Given the description of an element on the screen output the (x, y) to click on. 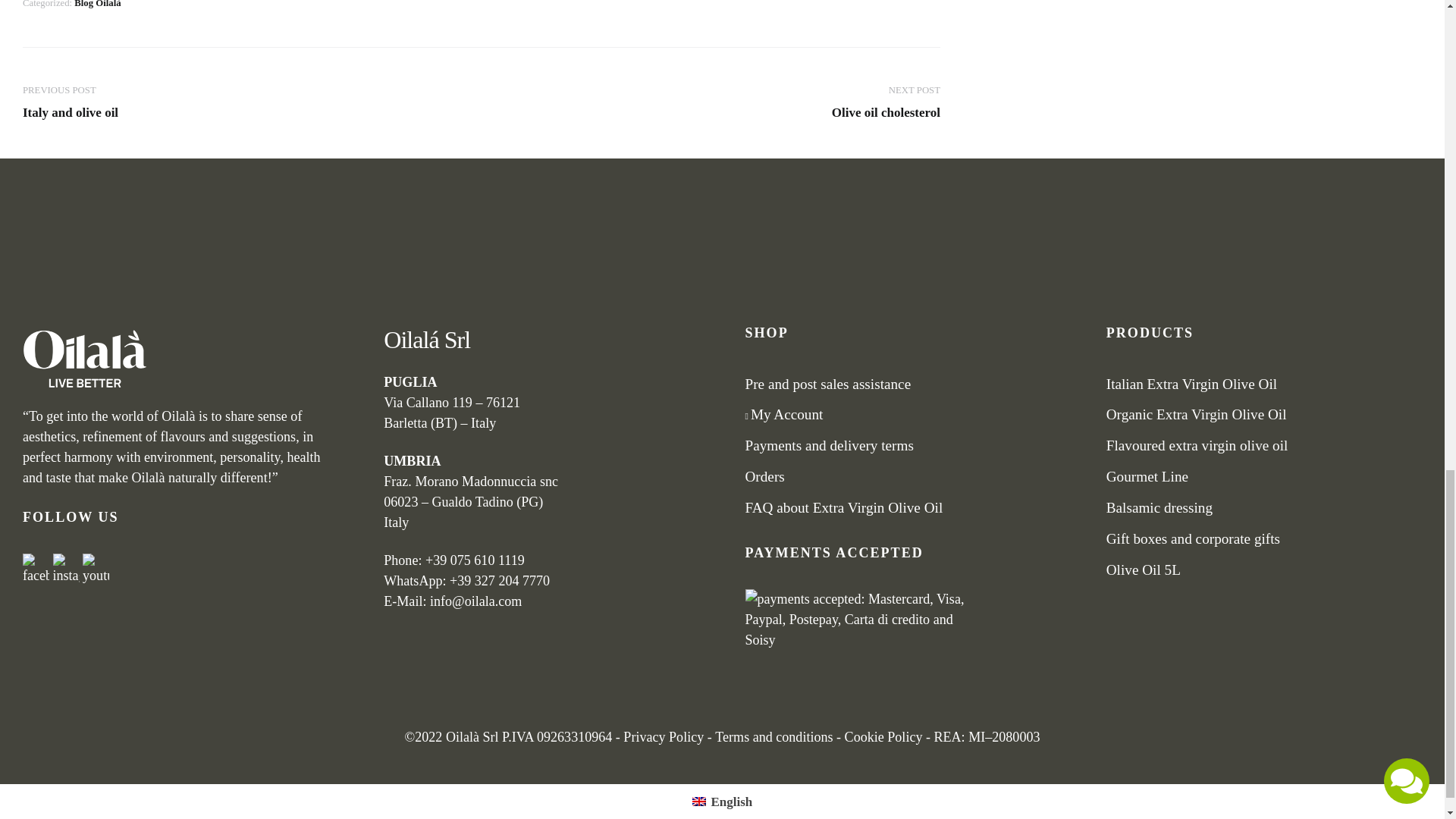
Cookie Policy  (883, 737)
